Given the description of an element on the screen output the (x, y) to click on. 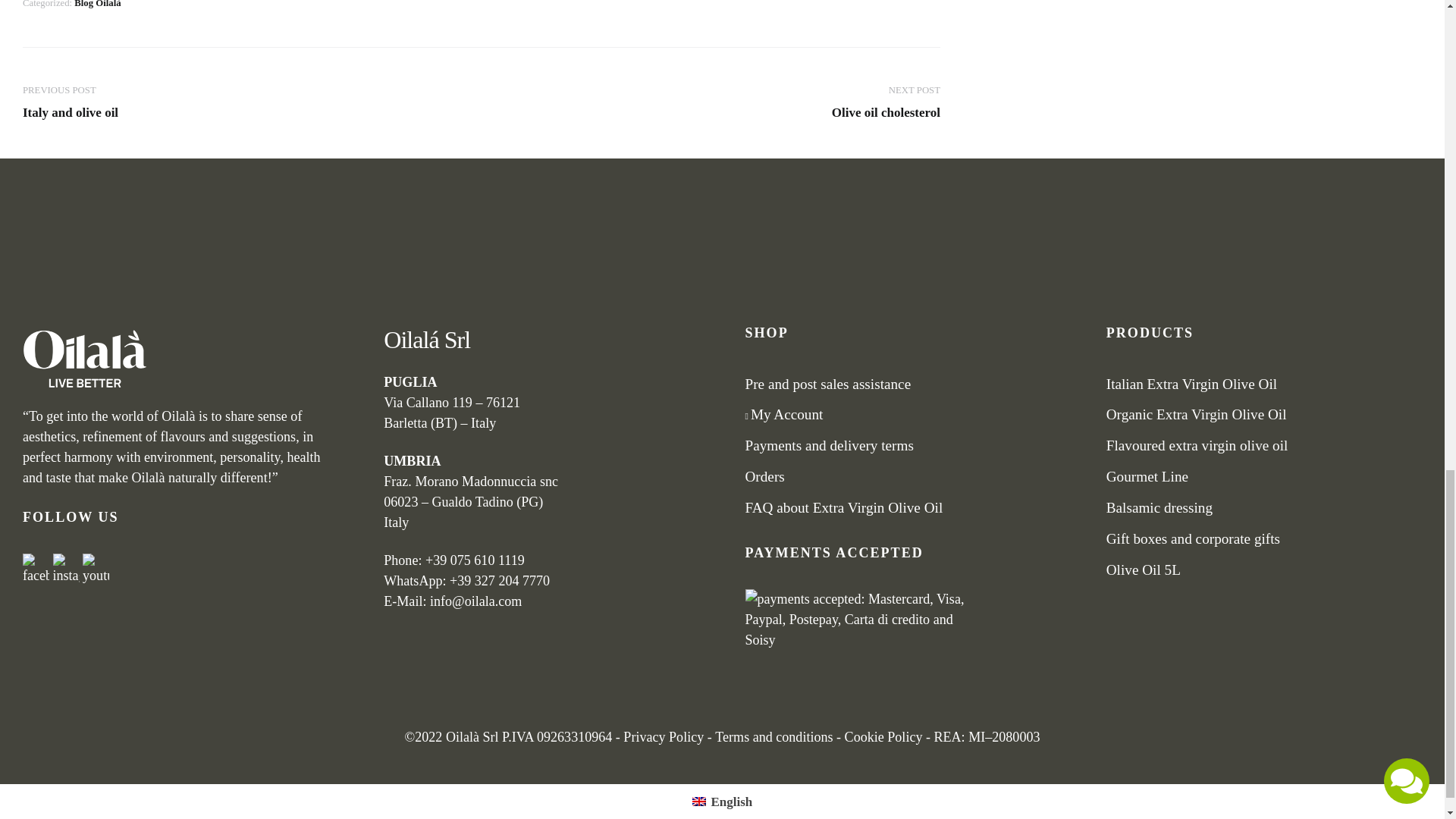
Cookie Policy  (883, 737)
